Given the description of an element on the screen output the (x, y) to click on. 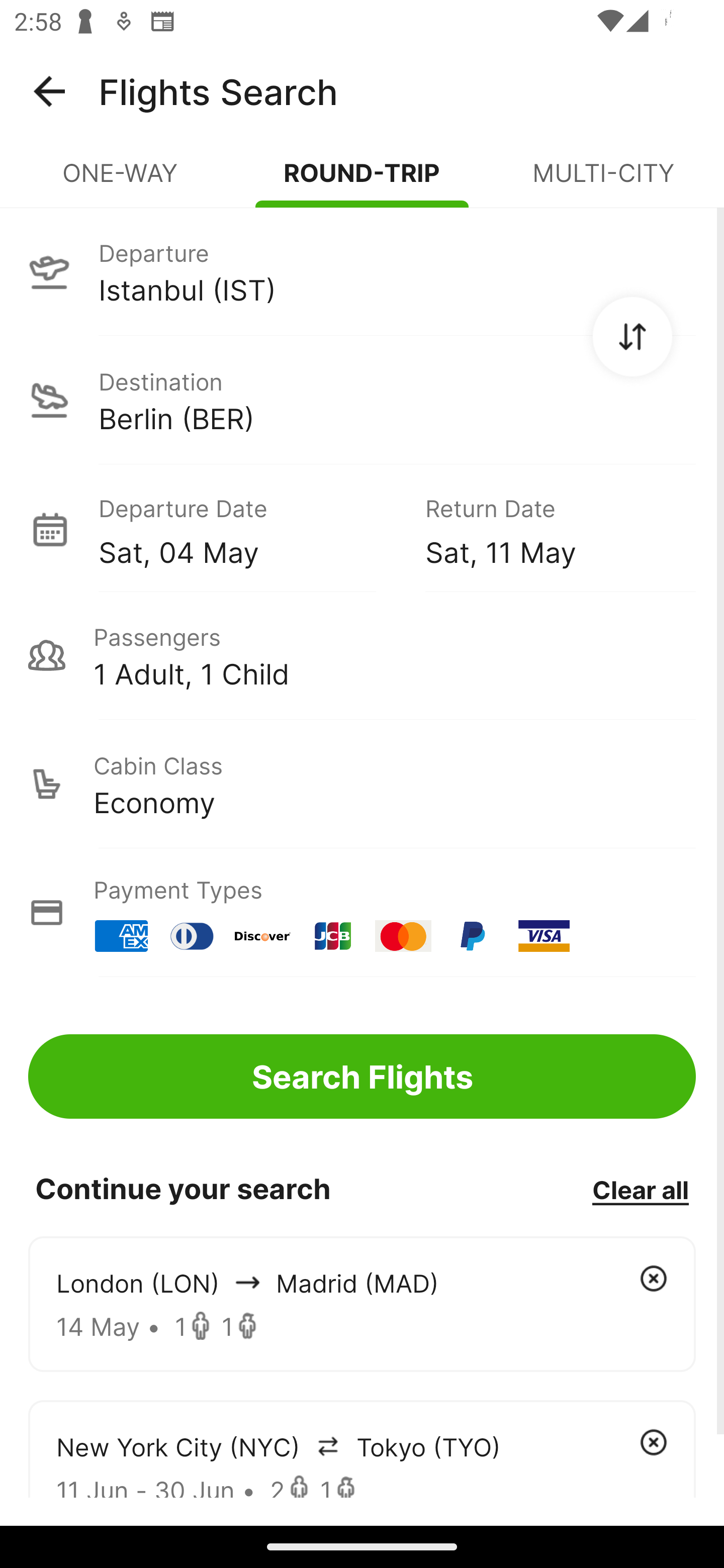
ONE-WAY (120, 180)
ROUND-TRIP (361, 180)
MULTI-CITY (603, 180)
Departure Istanbul (IST) (362, 270)
Destination Berlin (BER) (362, 400)
Departure Date Sat, 04 May (247, 528)
Return Date Sat, 11 May (546, 528)
Passengers 1 Adult, 1 Child (362, 655)
Cabin Class Economy (362, 783)
Payment Types (362, 912)
Search Flights (361, 1075)
Clear all (640, 1189)
